Given the description of an element on the screen output the (x, y) to click on. 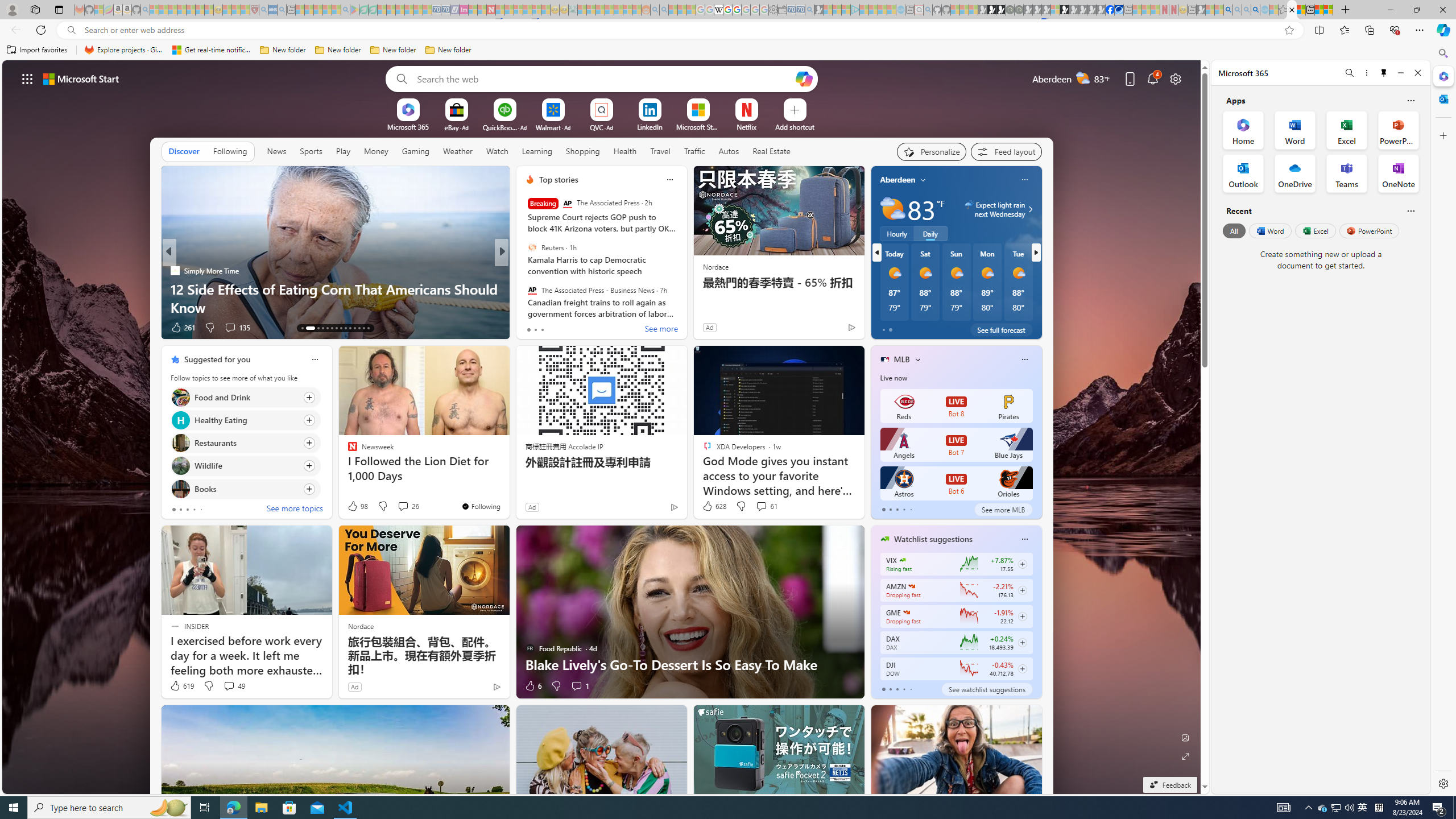
Terms of Use Agreement - Sleeping (362, 9)
Favorites bar (715, 49)
Close Microsoft 365 pane (1442, 76)
Class: icon-img (1024, 538)
Money (376, 151)
Reuters (532, 247)
Class: weather-arrow-glyph (1029, 208)
OneDrive Office App (1295, 172)
The Associated Press - Business News (532, 289)
Notifications (1152, 78)
